Given the description of an element on the screen output the (x, y) to click on. 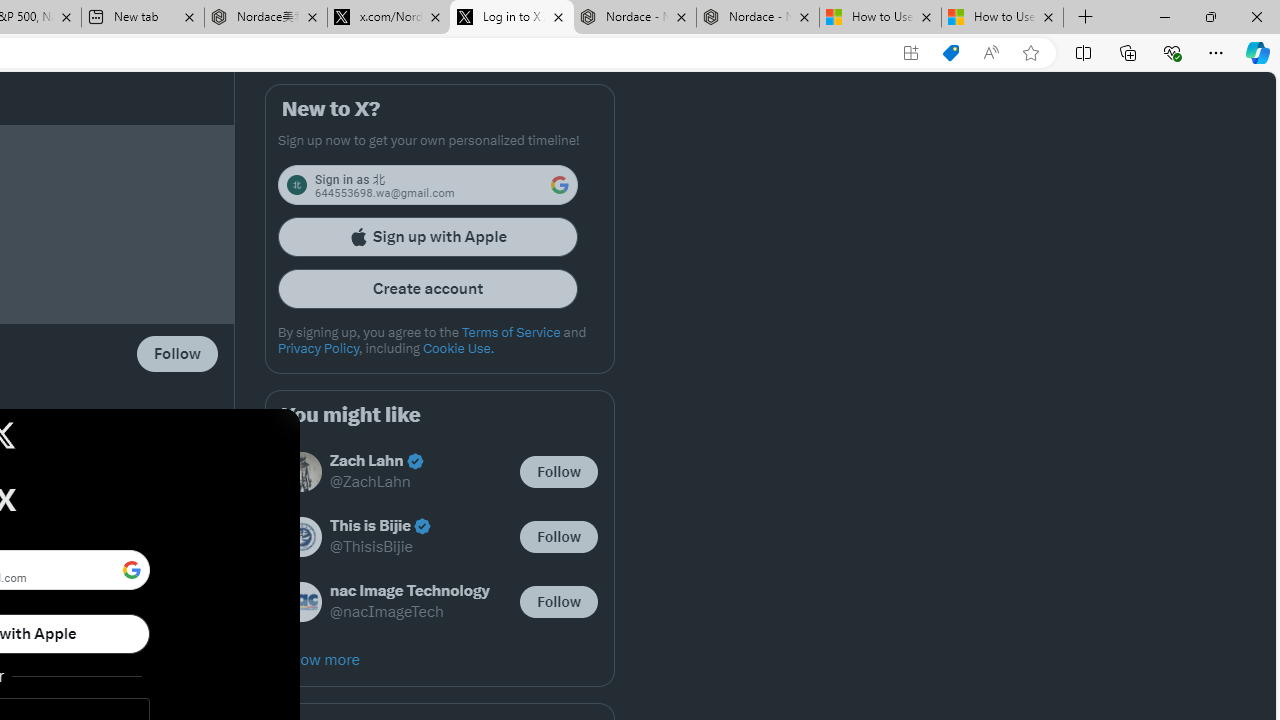
x.com/NordaceOfficial (388, 17)
Close tab (1048, 16)
Settings and more (Alt+F) (1215, 52)
Add this page to favorites (Ctrl+D) (1030, 53)
Shopping in Microsoft Edge (950, 53)
New tab (142, 17)
Read aloud this page (Ctrl+Shift+U) (991, 53)
Minimize (1164, 16)
Log in to X / X (511, 17)
How to Use a Monitor With Your Closed Laptop (1002, 17)
Copilot (Ctrl+Shift+.) (1258, 52)
Collections (1128, 52)
Split screen (1083, 52)
App available. Install X (910, 53)
